Given the description of an element on the screen output the (x, y) to click on. 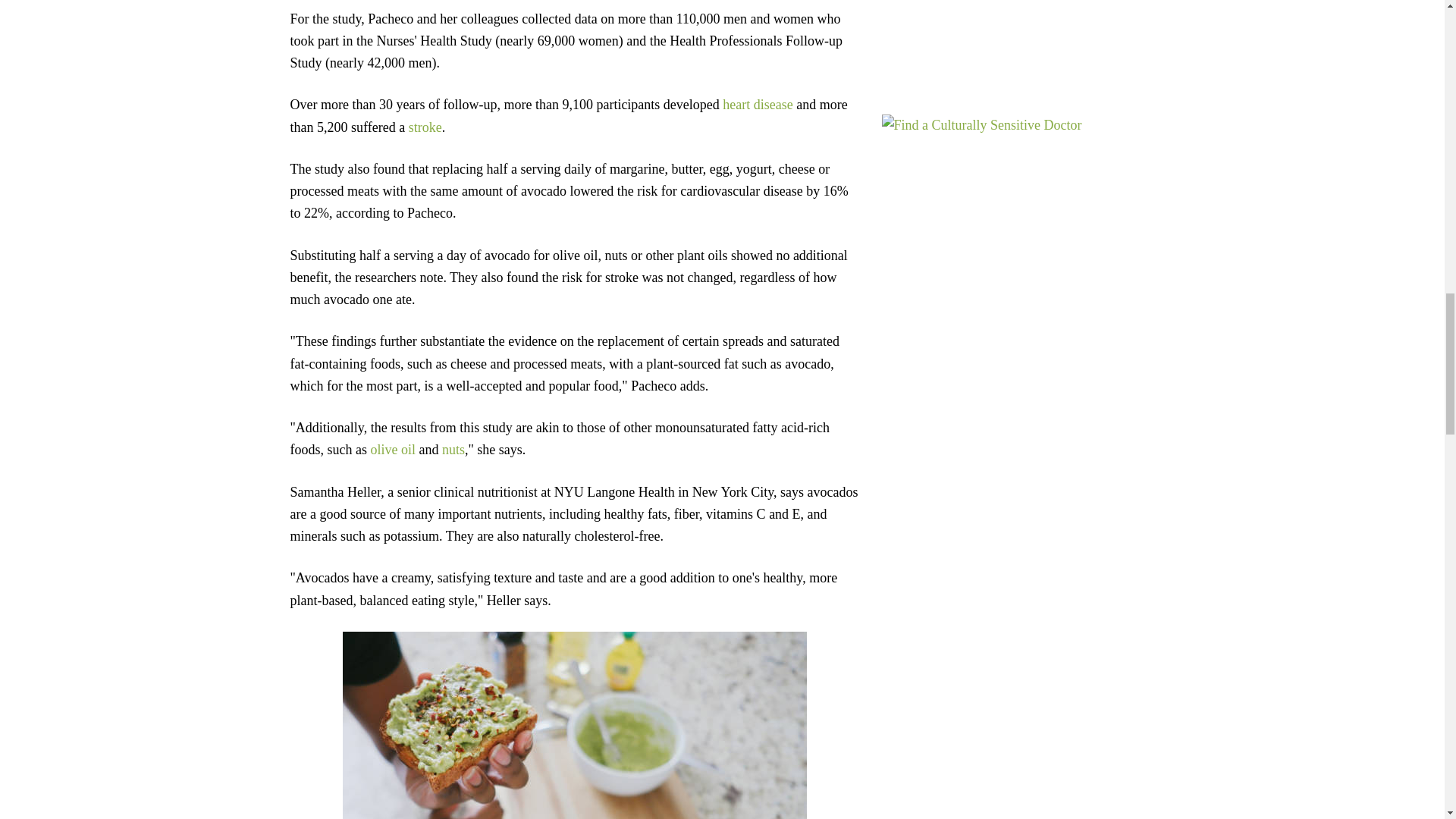
stroke (425, 127)
heart disease (757, 104)
olive oil  (394, 449)
3rd party ad content (1017, 35)
nuts (453, 449)
